Given the description of an element on the screen output the (x, y) to click on. 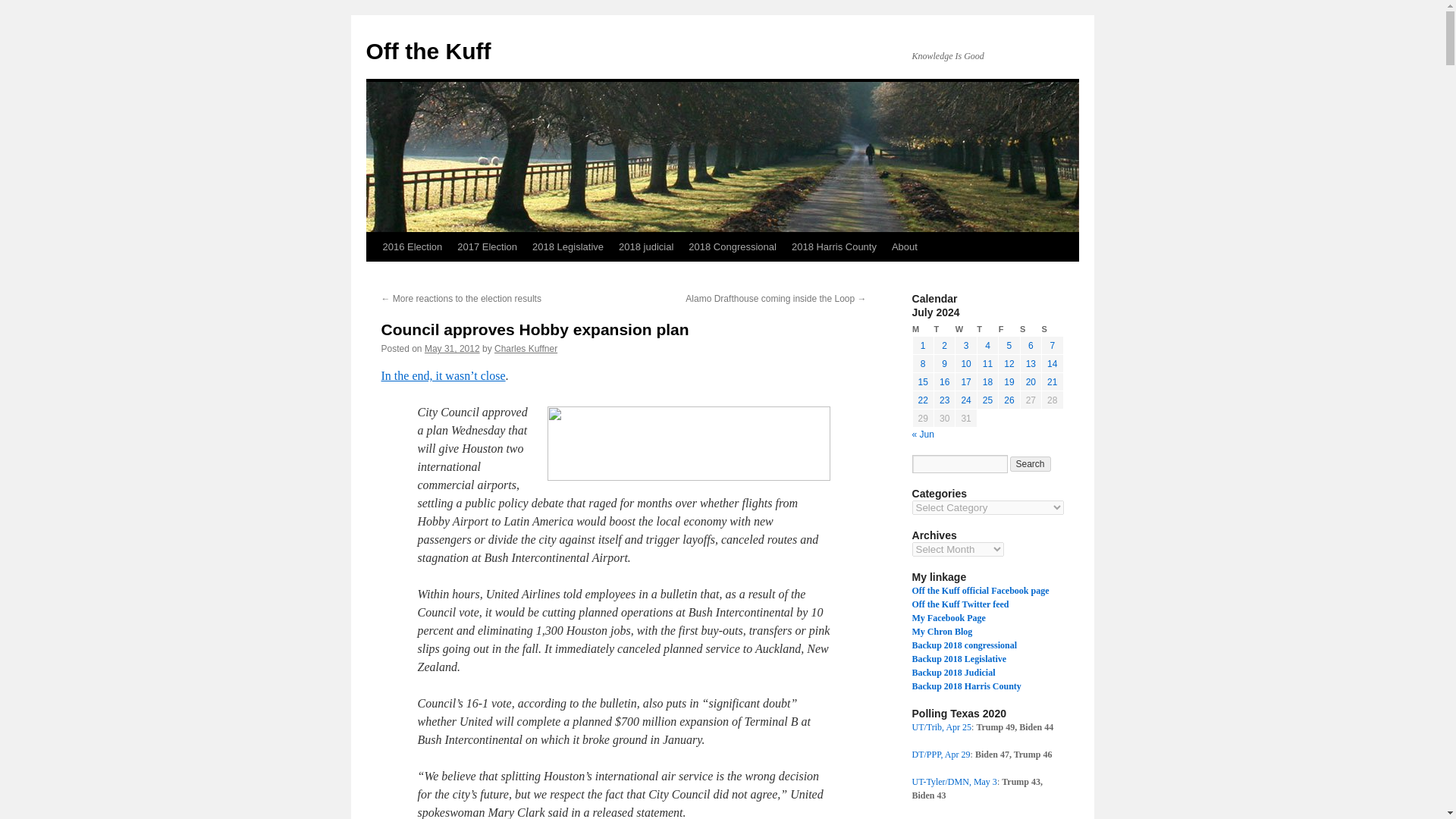
5:09 am (452, 348)
About (903, 246)
Sunday (1052, 329)
2018 Congressional (732, 246)
Friday (1009, 329)
Monday (922, 329)
Charles Kuffner (526, 348)
Hobby International (688, 443)
Search (1030, 463)
2018 Legislative (567, 246)
2018 Harris County (833, 246)
Off the Kuff (427, 50)
Saturday (1030, 329)
2018 judicial (646, 246)
Wednesday (965, 329)
